Given the description of an element on the screen output the (x, y) to click on. 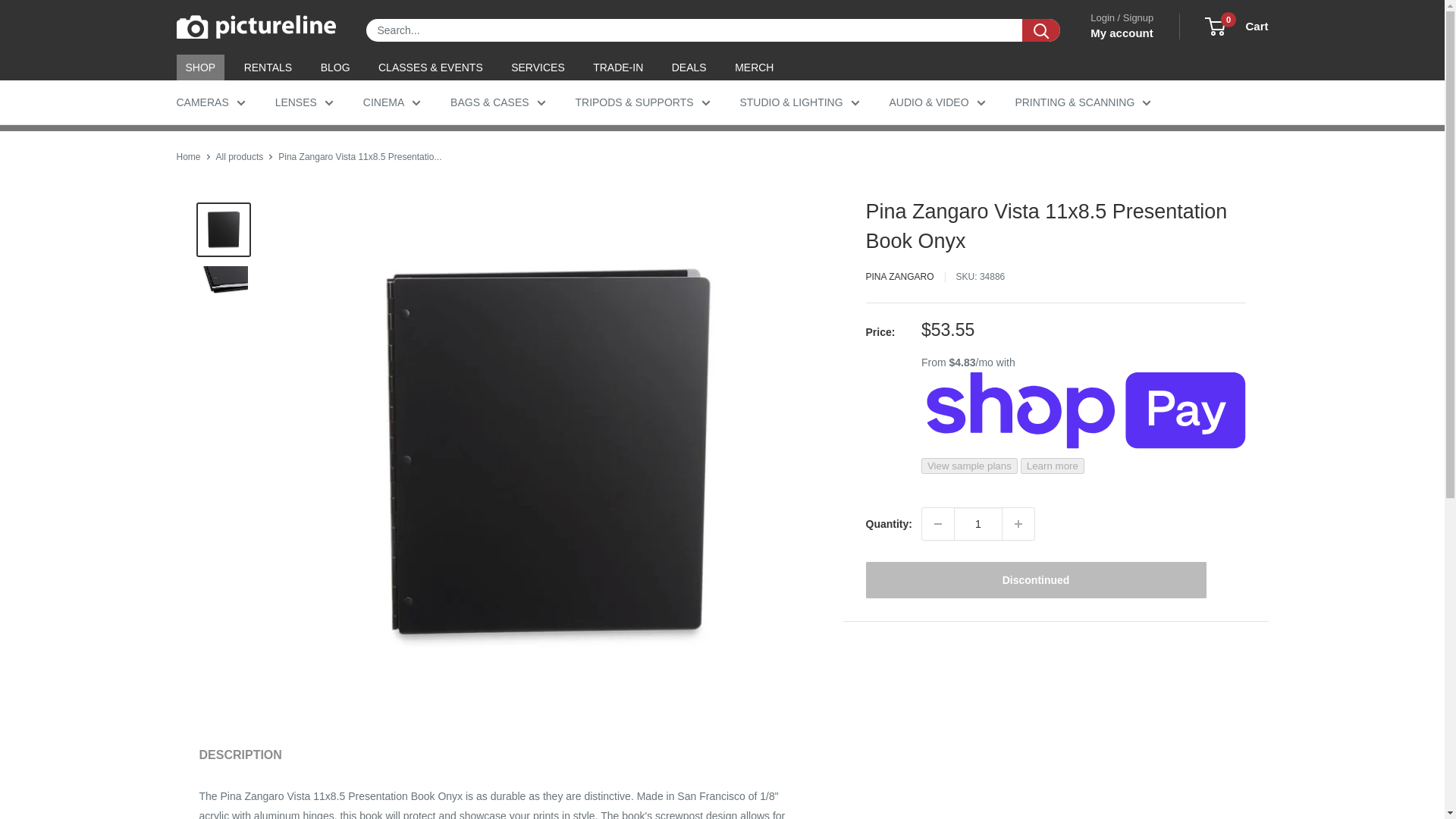
1 (978, 523)
Increase quantity by 1 (1018, 523)
Decrease quantity by 1 (937, 523)
